Given the description of an element on the screen output the (x, y) to click on. 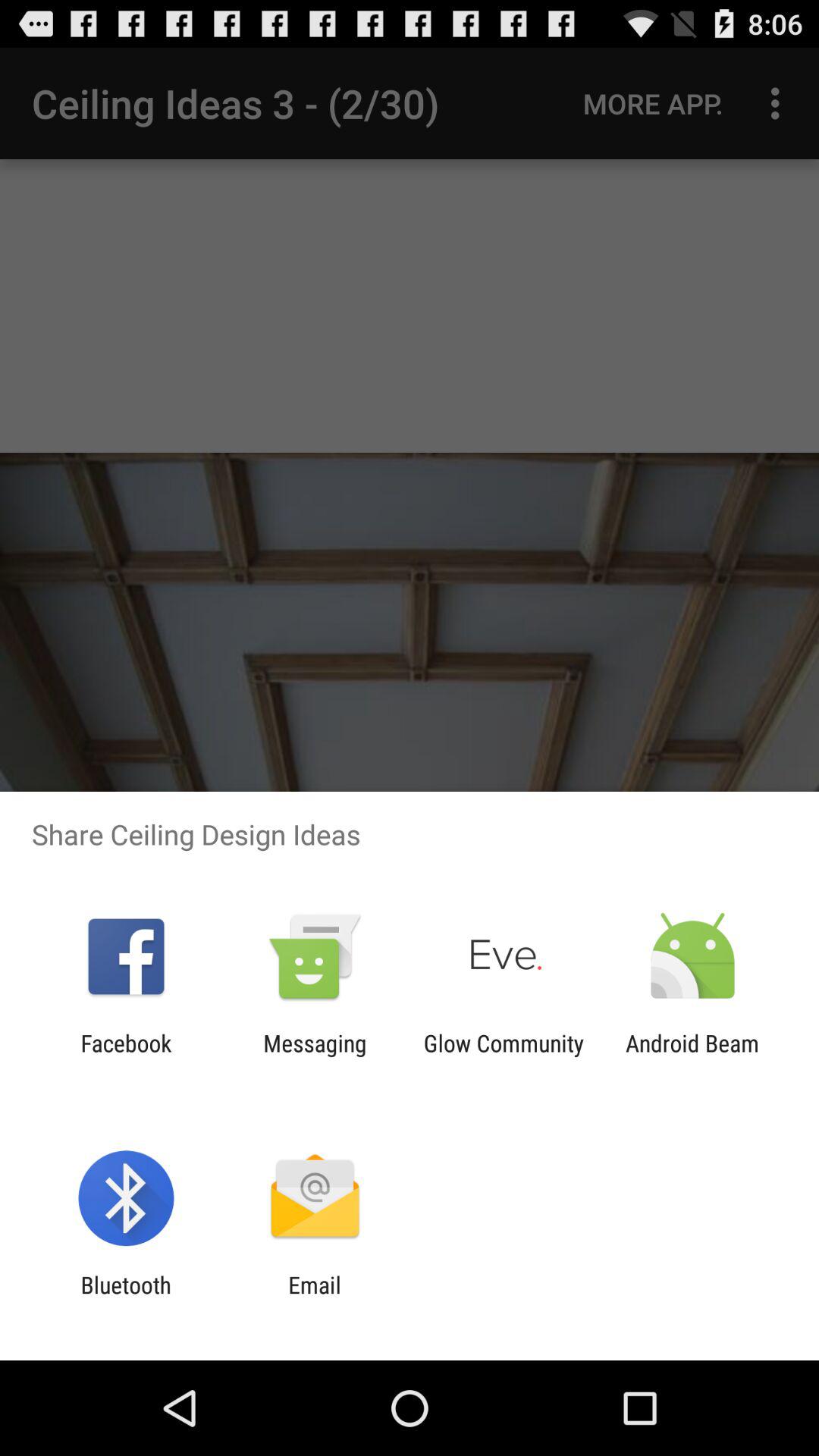
turn on the app to the left of android beam app (503, 1056)
